Given the description of an element on the screen output the (x, y) to click on. 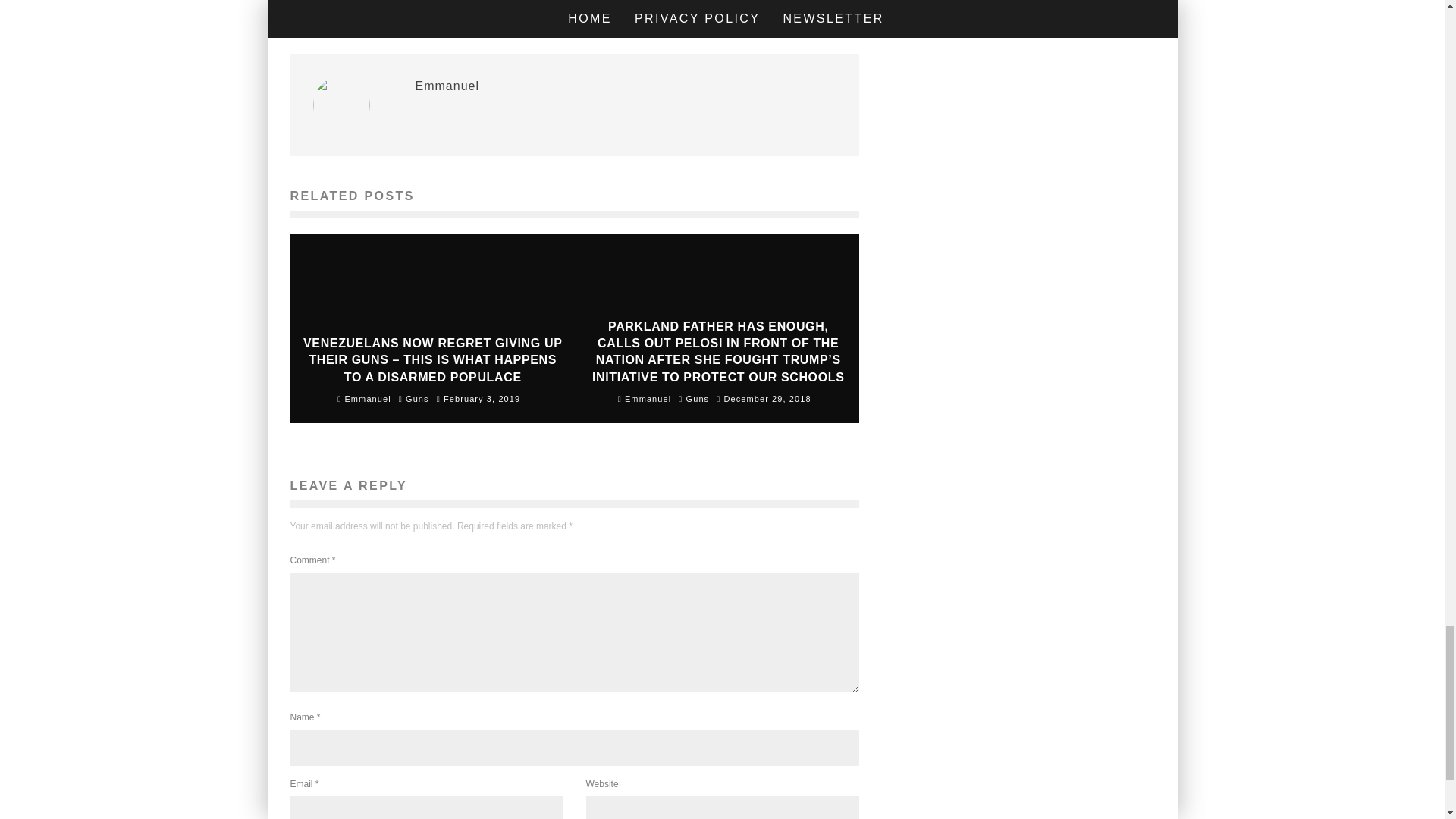
Emmanuel (446, 85)
Guns (417, 398)
Emmanuel (364, 398)
Guns (697, 398)
Emmanuel (644, 398)
